Given the description of an element on the screen output the (x, y) to click on. 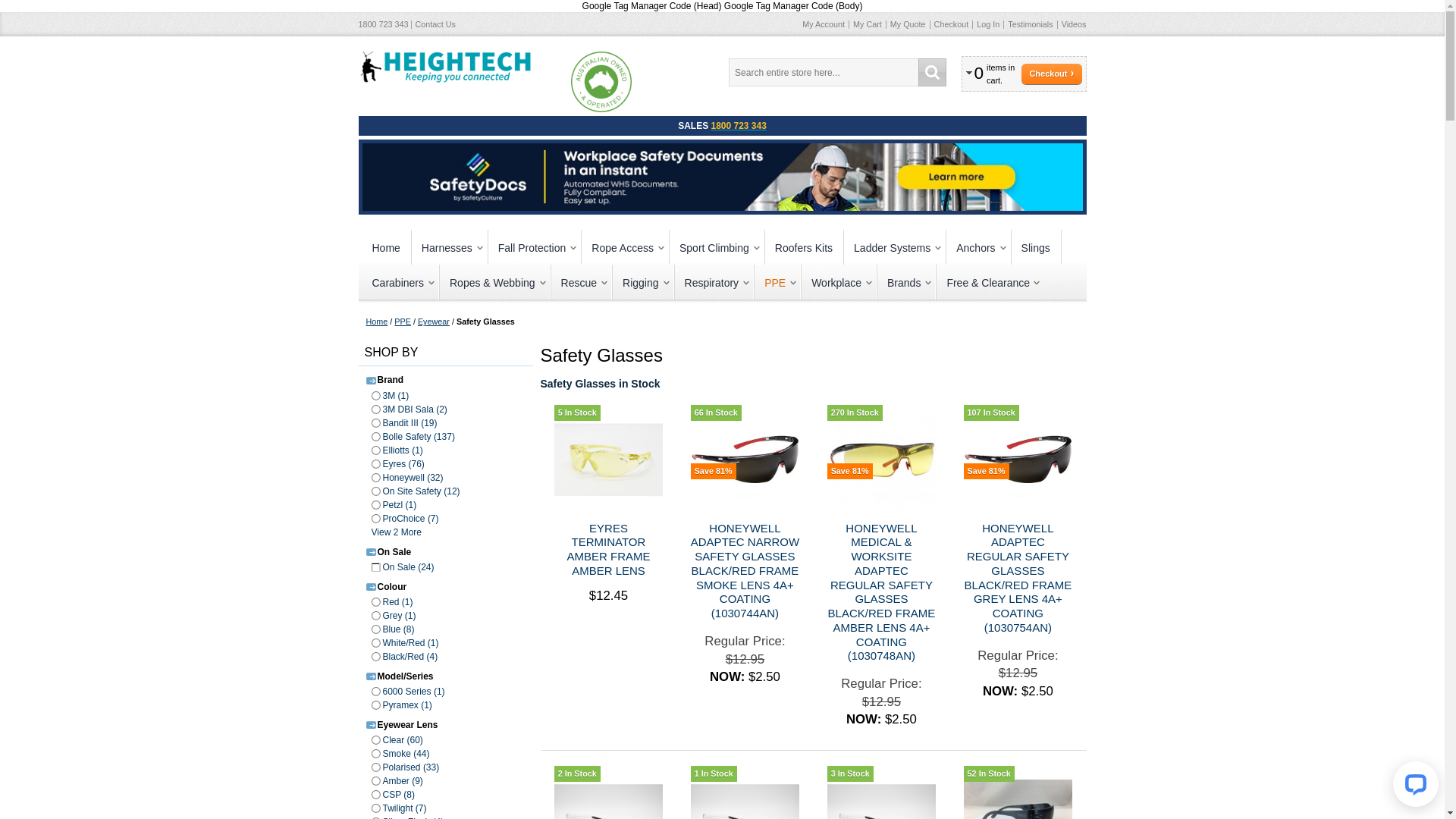
Slings Element type: text (1035, 246)
1030748AN.jpg Element type: hover (881, 459)
Contact Us  Element type: text (434, 23)
Save 81% Element type: text (849, 471)
107 In Stock Element type: text (991, 412)
Rope Access Element type: text (624, 246)
CSP (8) Element type: text (394, 794)
Roofers Kits Element type: text (804, 246)
3M (1) Element type: text (392, 395)
Save 81% Element type: text (713, 471)
Petzl (1) Element type: text (395, 504)
Red (1) Element type: text (394, 601)
1 In Stock Element type: text (713, 773)
1030754AN.jpg Element type: hover (1018, 459)
3M DBI Sala (2) Element type: text (411, 409)
Rescue Element type: text (581, 281)
Clear (60) Element type: text (398, 739)
Twilight (7) Element type: text (400, 808)
270 In Stock Element type: text (854, 412)
Save 81% Element type: text (986, 471)
Rigging Element type: text (642, 281)
Search Element type: hover (932, 72)
Videos Element type: text (1071, 23)
Blue (8) Element type: text (394, 629)
Testimonials Element type: text (1029, 23)
Sport Climbing Element type: text (716, 246)
EYRES TERMINATOR Amber Frame Amber Lens Element type: hover (608, 459)
SafetyDocs - Workplace Safety Documents in a instant Element type: hover (722, 149)
Fall Protection Element type: text (534, 246)
EYRES TERMINATOR AMBER FRAME AMBER LENS Element type: text (607, 549)
Ladder Systems Element type: text (894, 246)
On Site Safety (12) Element type: text (417, 491)
Respiratory Element type: text (714, 281)
6000 Series (1) Element type: text (409, 691)
Amber (9) Element type: text (398, 780)
Eyewear Element type: text (433, 321)
Smoke (44) Element type: text (402, 753)
HEIGHTECH Safety Systems Element type: hover (444, 63)
Bolle Safety (137) Element type: text (414, 436)
Grey (1) Element type: text (395, 615)
ProChoice (7) Element type: text (406, 518)
Pyramex (1) Element type: text (403, 705)
66 In Stock Element type: text (715, 412)
My Cart Element type: text (866, 23)
View 2 More Element type: text (398, 532)
White/Red (1) Element type: text (406, 642)
Checkout Element type: text (950, 23)
Bandit III (19) Element type: text (406, 422)
Home Element type: text (386, 246)
Brands Element type: text (906, 281)
1030744AN.jpg Element type: hover (745, 459)
Anchors Element type: text (978, 246)
My Quote Element type: text (907, 23)
Log In Element type: text (987, 23)
Harnesses Element type: text (449, 246)
Eyres (76) Element type: text (399, 463)
5 In Stock Element type: text (577, 412)
Polarised (33) Element type: text (407, 767)
3 In Stock Element type: text (850, 773)
52 In Stock Element type: text (988, 773)
PPE Element type: text (402, 321)
On Sale (24) Element type: text (404, 567)
Black/Red (4) Element type: text (406, 656)
2 In Stock Element type: text (577, 773)
My Account Element type: text (825, 23)
Ropes & Webbing Element type: text (494, 281)
Carabiners Element type: text (400, 281)
Free & Clearance Element type: text (990, 281)
1800 723 343 Element type: text (737, 125)
Home Element type: text (376, 321)
Checkout Element type: text (1051, 73)
Workplace Element type: text (838, 281)
PPE Element type: text (777, 281)
Elliotts (1) Element type: text (398, 450)
Honeywell (32) Element type: text (409, 477)
